Given the description of an element on the screen output the (x, y) to click on. 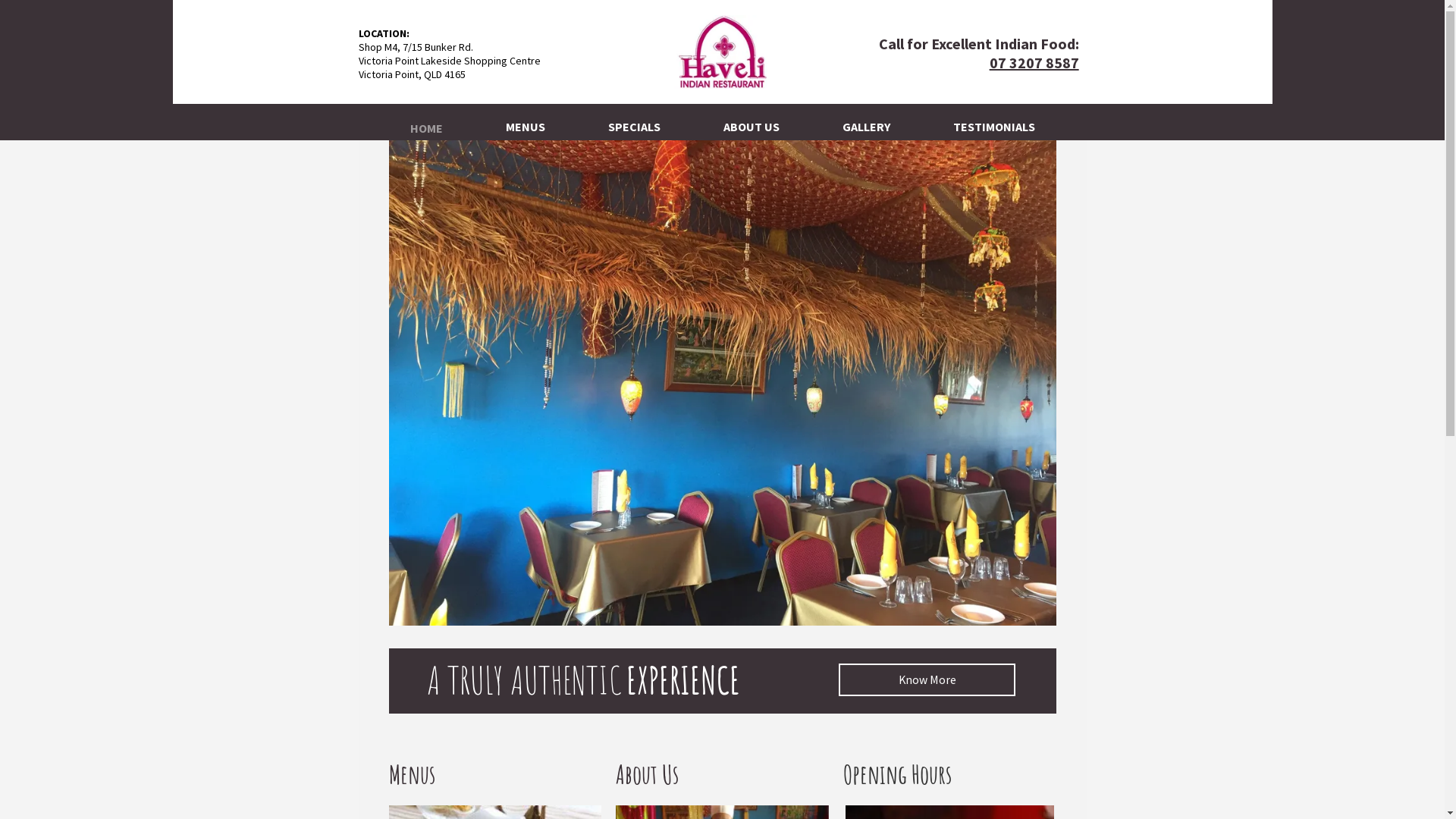
GALLERY Element type: text (865, 121)
TESTIMONIALS Element type: text (993, 121)
Know More Element type: text (926, 679)
SPECIALS Element type: text (634, 121)
Menus Element type: text (411, 773)
MENUS Element type: text (524, 121)
HOME Element type: text (425, 122)
About Us Element type: text (646, 773)
ABOUT US Element type: text (751, 121)
07 3207 8587 Element type: text (1034, 62)
